Given the description of an element on the screen output the (x, y) to click on. 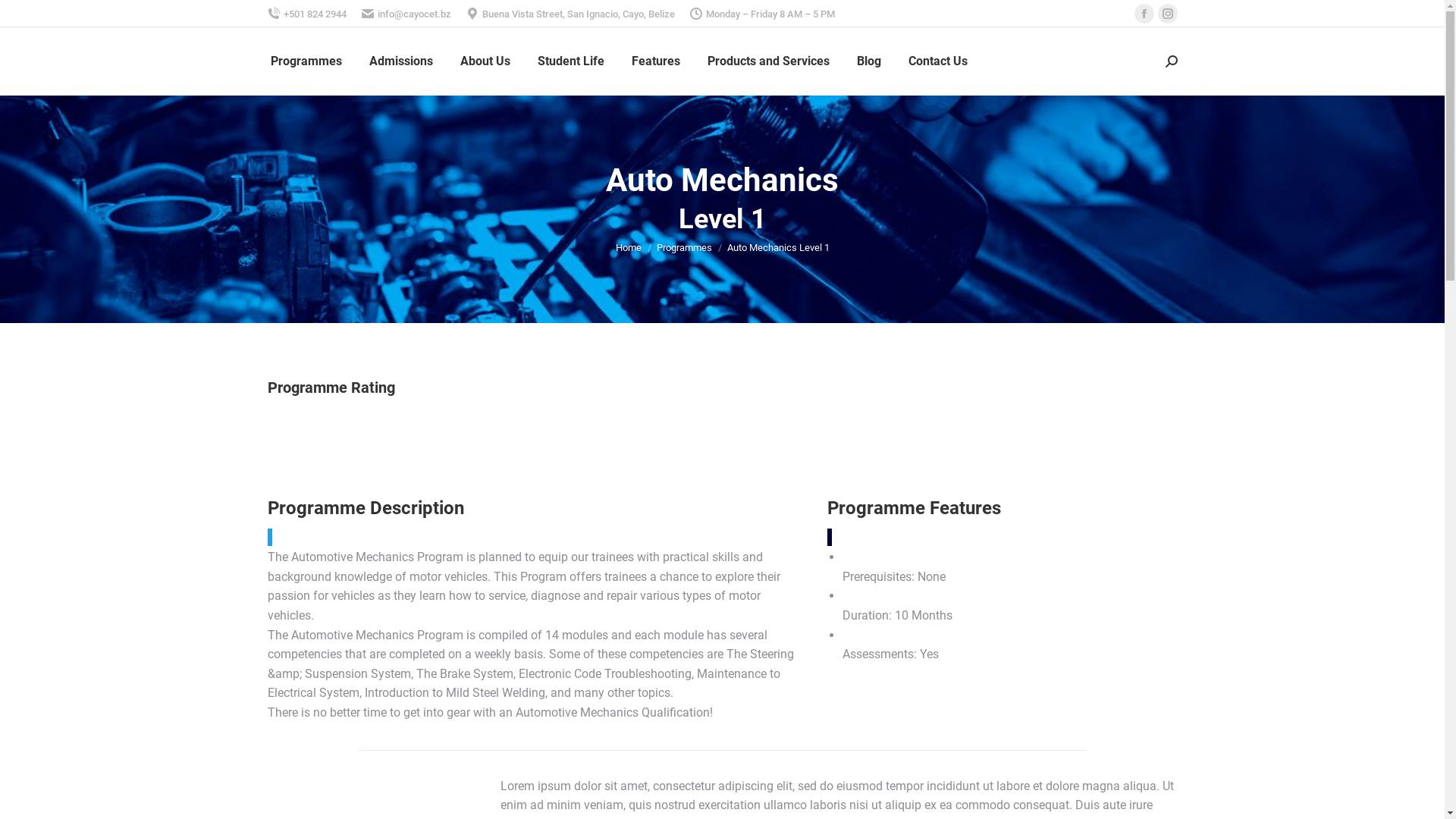
Blog Element type: text (868, 60)
Facebook page opens in new window Element type: text (1144, 13)
Products and Services Element type: text (767, 60)
Admissions Element type: text (400, 60)
Features Element type: text (654, 60)
Programmes Element type: text (305, 60)
Home Element type: text (628, 247)
Instagram page opens in new window Element type: text (1166, 13)
Go! Element type: text (21, 15)
Student Life Element type: text (569, 60)
About Us Element type: text (484, 60)
Programmes Element type: text (684, 247)
Contact Us Element type: text (937, 60)
